Given the description of an element on the screen output the (x, y) to click on. 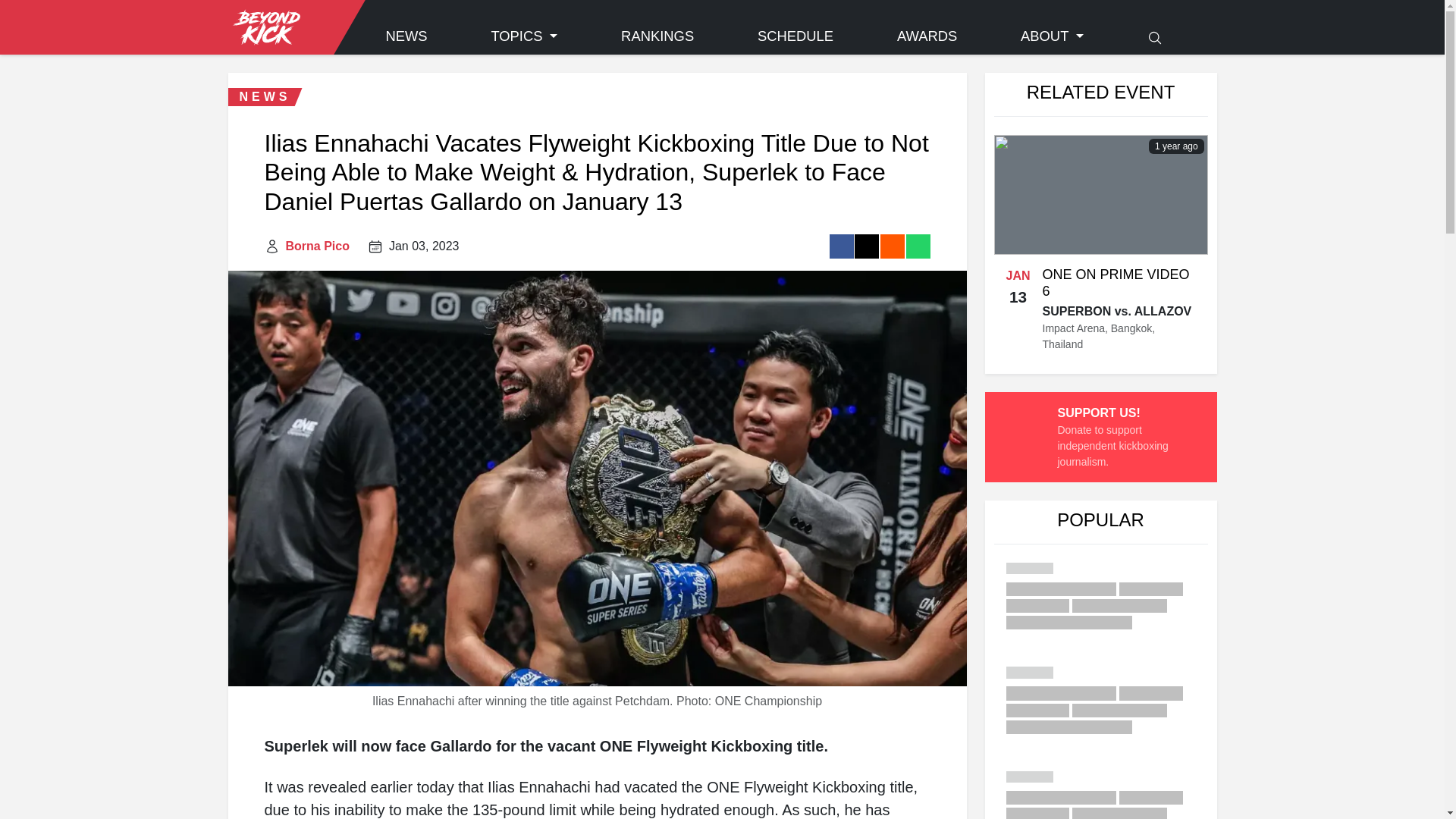
ABOUT (1052, 36)
RANKINGS (657, 36)
NEWS (405, 36)
AWARDS (927, 36)
SCHEDULE (795, 36)
TOPICS (524, 36)
Borna Pico (317, 245)
